Given the description of an element on the screen output the (x, y) to click on. 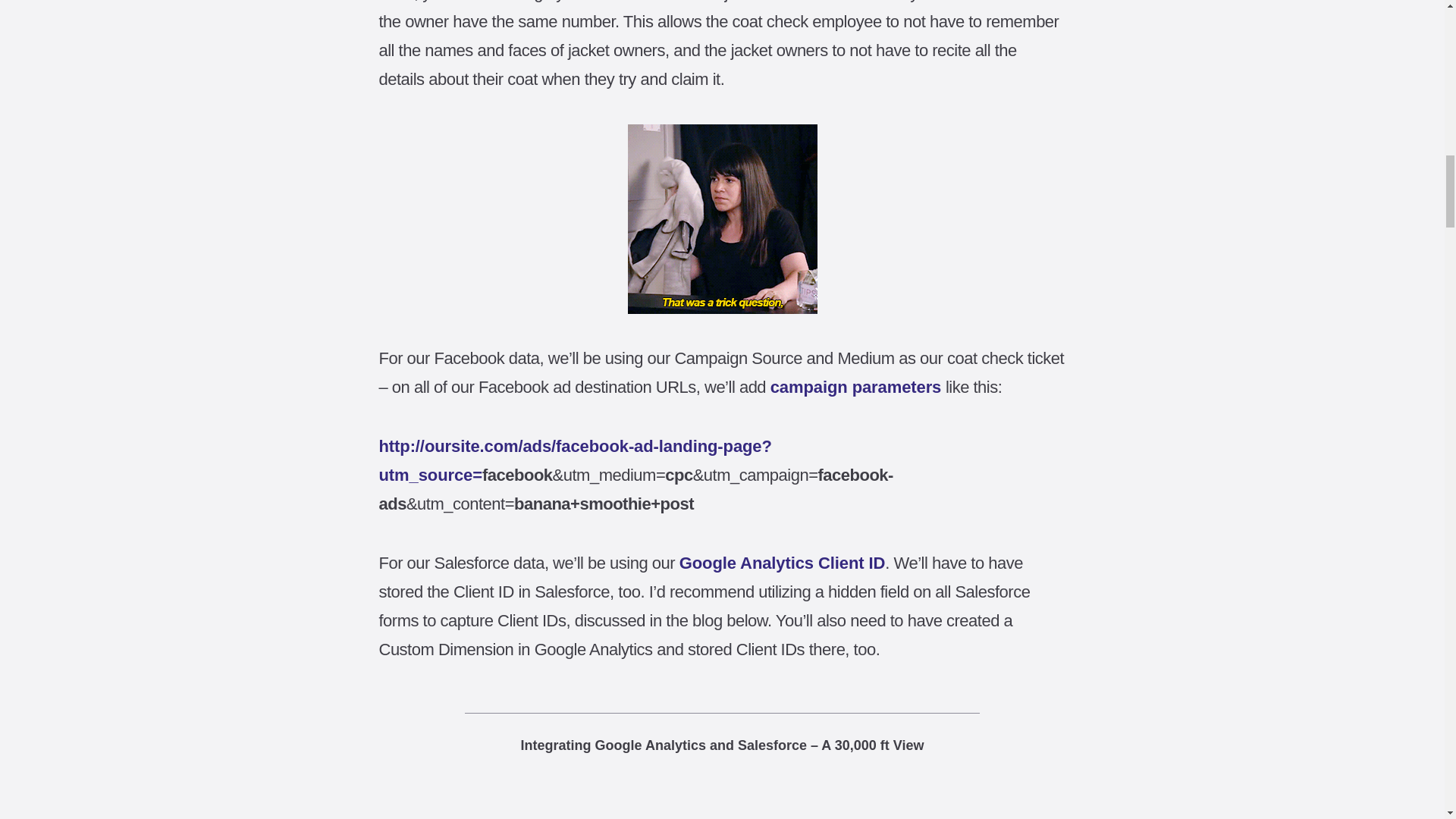
Coat Check (721, 218)
campaign parameters (855, 386)
Google Analytics Client ID (782, 562)
